Given the description of an element on the screen output the (x, y) to click on. 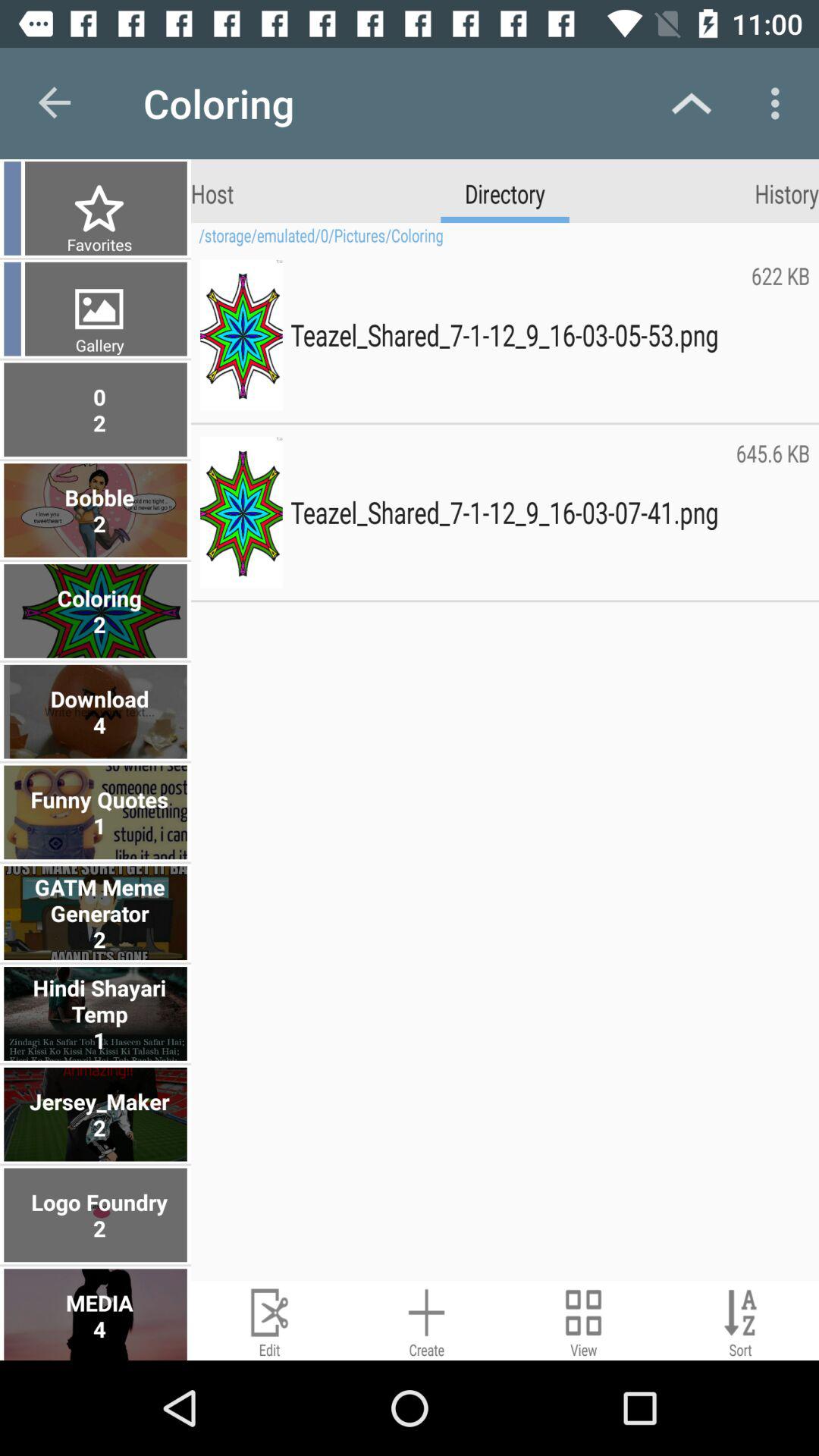
press the hindi shayari temp (97, 1013)
